Given the description of an element on the screen output the (x, y) to click on. 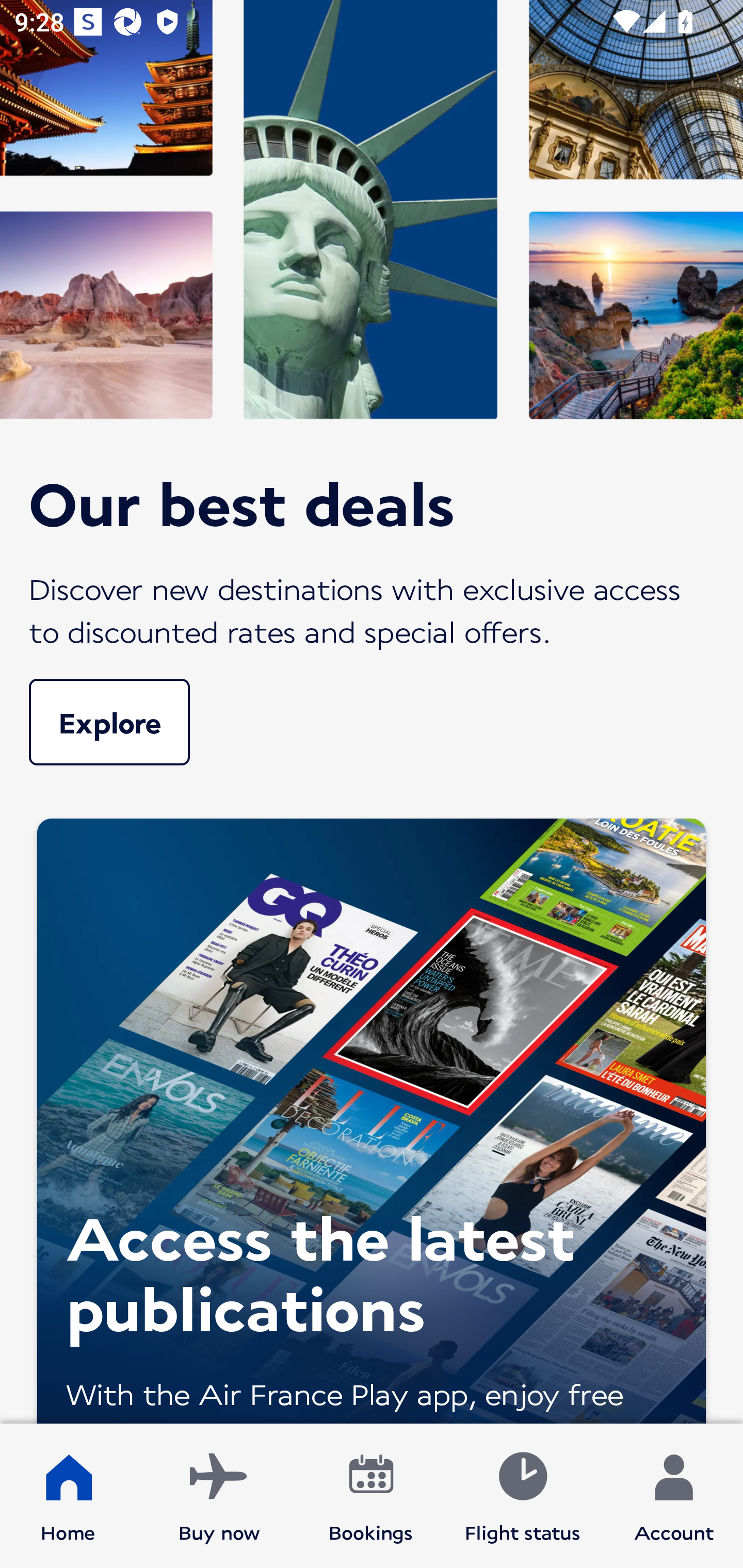
Buy now (219, 1495)
Bookings (370, 1495)
Flight status (522, 1495)
Account (674, 1495)
